Given the description of an element on the screen output the (x, y) to click on. 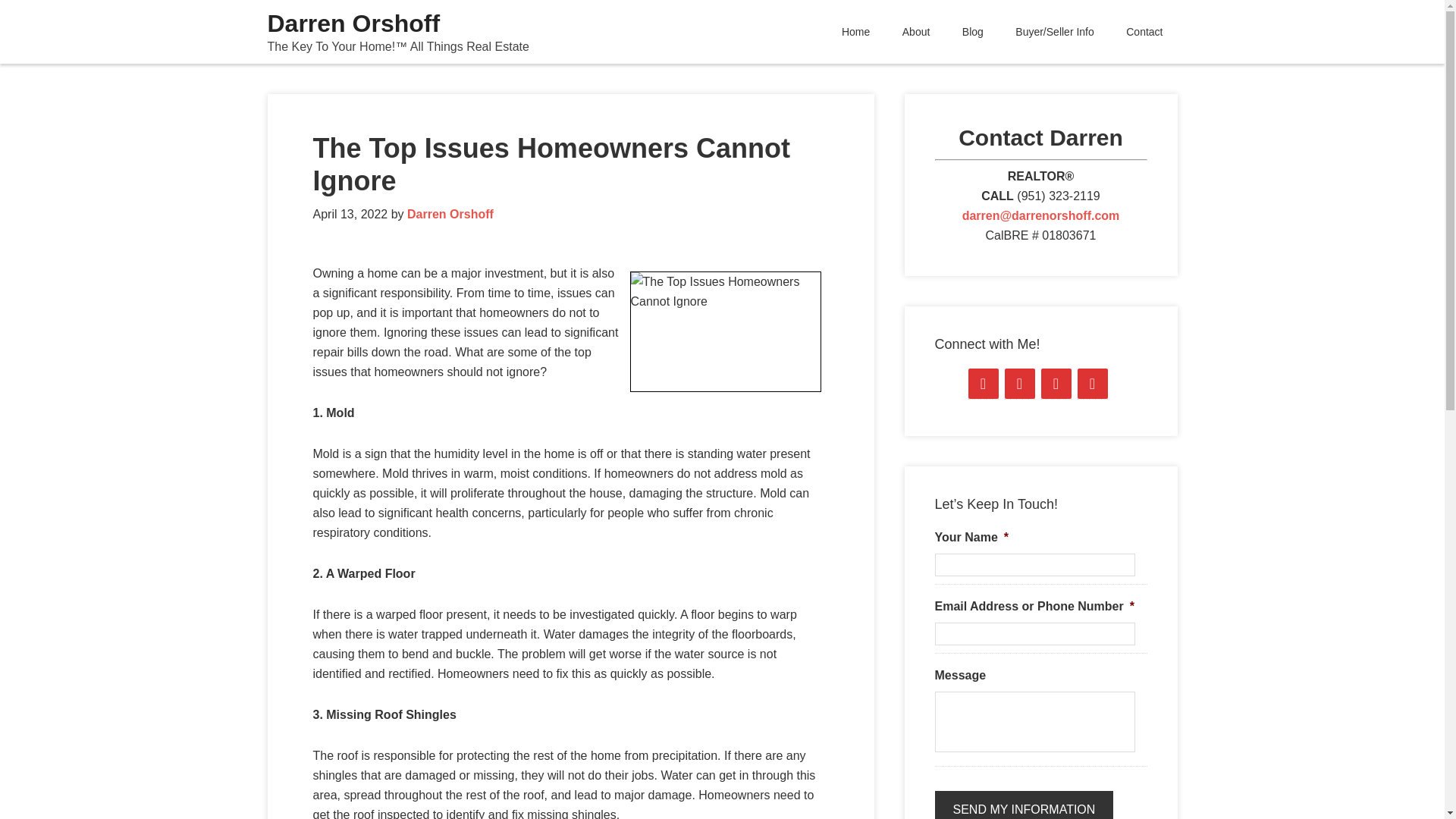
Home (855, 31)
Send My Information (1023, 805)
LinkedIn (1091, 383)
The Top Issues Homeowners Cannot Ignore (551, 164)
Darren Orshoff (352, 22)
Blog (972, 31)
Send My Information (1023, 805)
Darren Orshoff (450, 214)
Facebook (982, 383)
Twitter (1055, 383)
About (916, 31)
YouTube (1018, 383)
Contact (1144, 31)
